Given the description of an element on the screen output the (x, y) to click on. 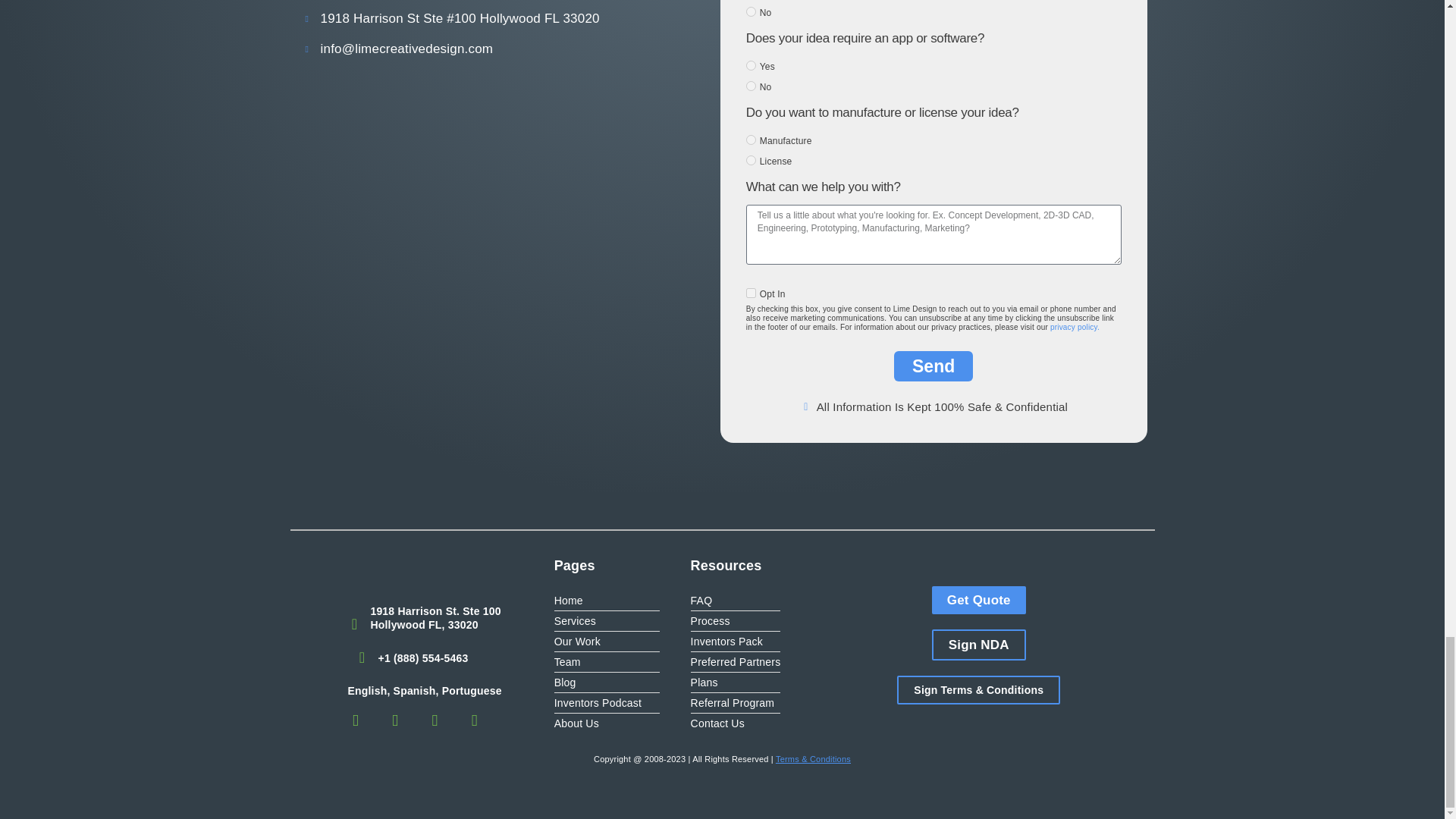
License (750, 160)
Yes (750, 65)
on (750, 293)
Manufacture (750, 139)
No (750, 85)
No (750, 11)
